Given the description of an element on the screen output the (x, y) to click on. 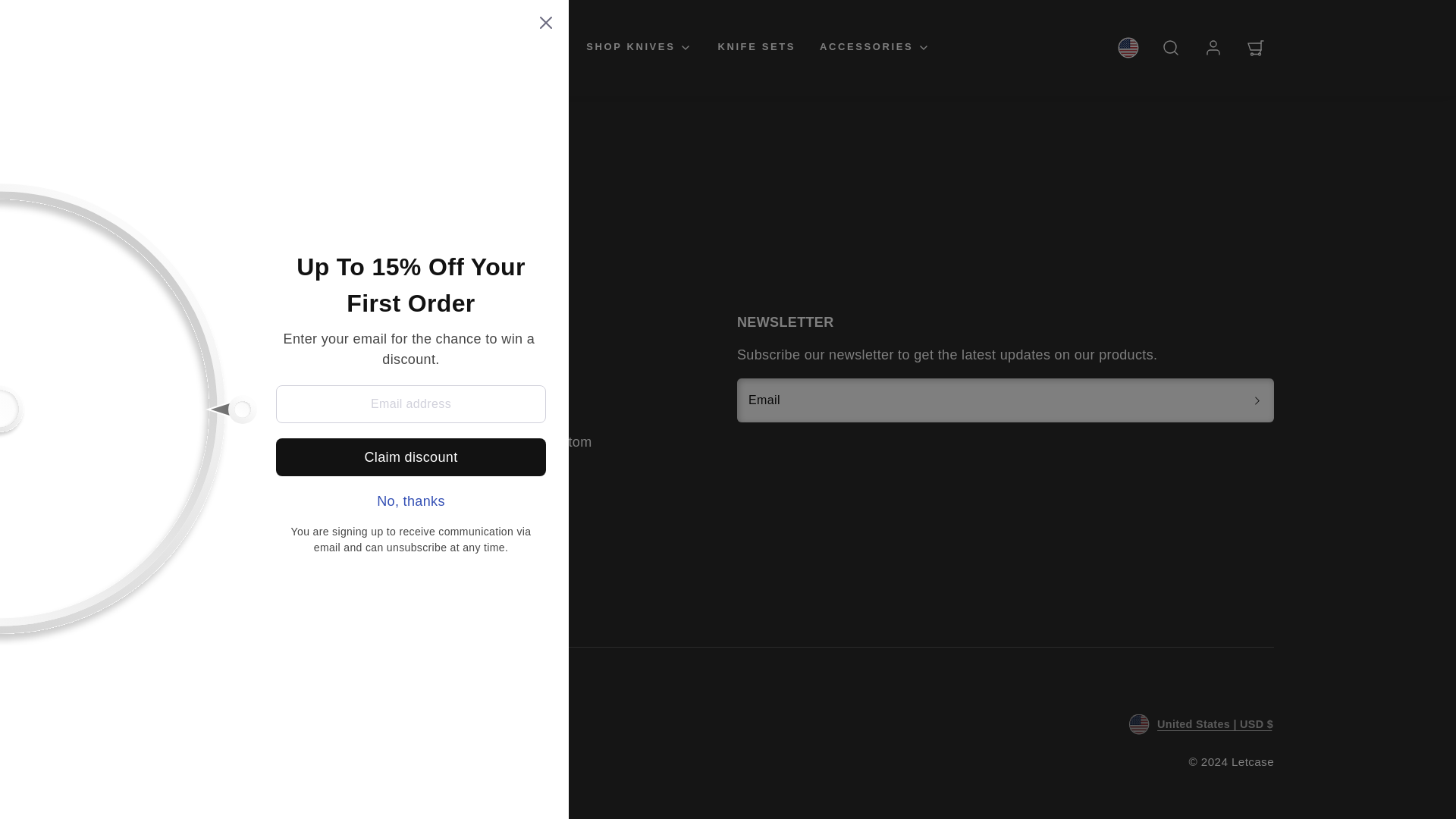
Maestro (300, 717)
PayPal (370, 717)
Mastercard (231, 717)
Visa (196, 717)
American Express (266, 717)
JCB (335, 717)
